Given the description of an element on the screen output the (x, y) to click on. 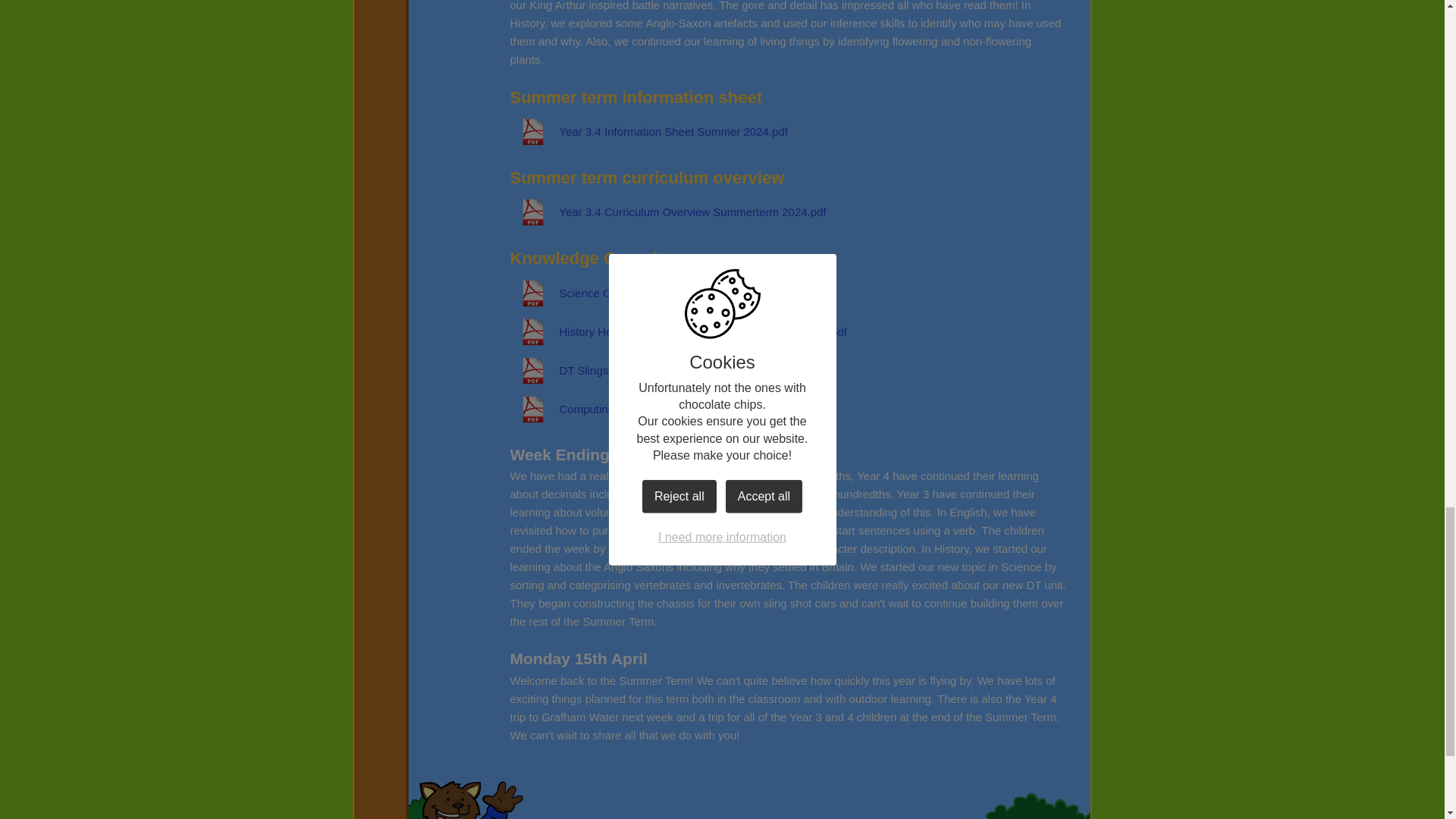
Computing Investigating Weather.pdf (627, 409)
DT Slingshot cars.pdf (587, 370)
Science Classification and changing habitats.pdf (656, 293)
History How hard was it to invade and settle in Britain.pdf (677, 331)
Year 3.4 Information Sheet Summer 2024.pdf (648, 131)
Year 3.4 Curriculum Overview Summerterm 2024.pdf (667, 212)
